Given the description of an element on the screen output the (x, y) to click on. 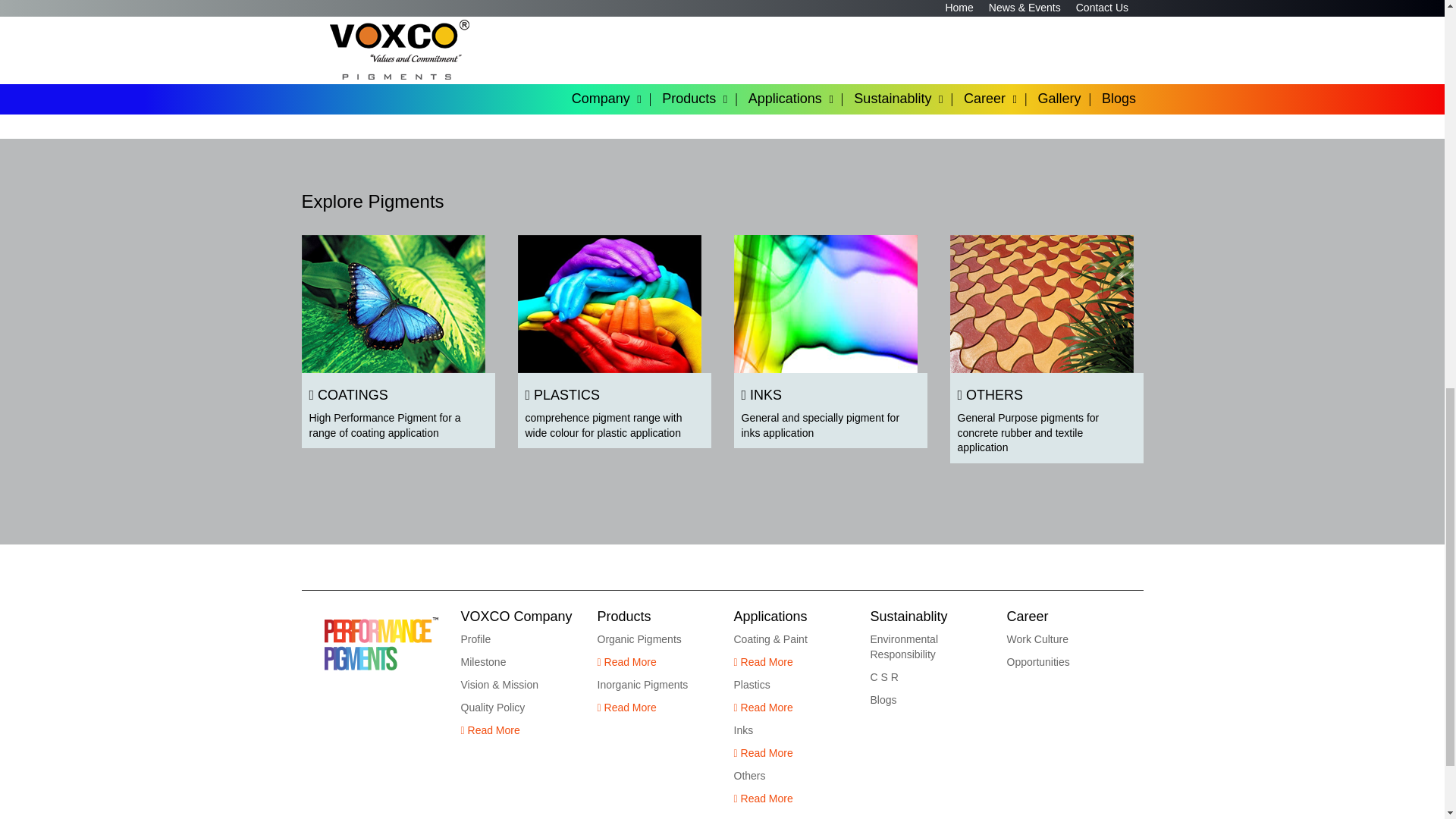
Blogs (1064, 616)
Blogs (883, 699)
